Given the description of an element on the screen output the (x, y) to click on. 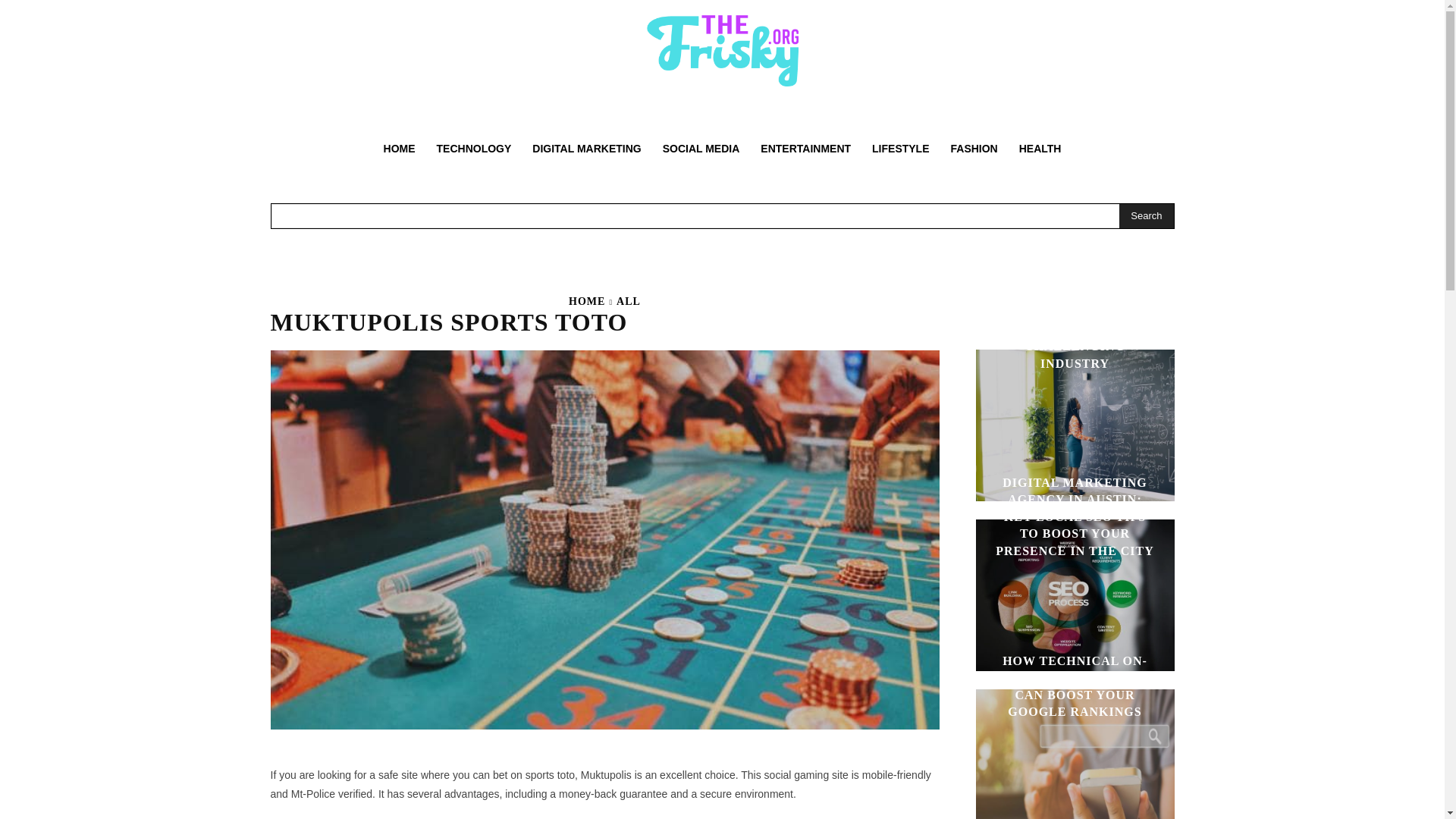
A Growing Need in a Challenging Industry (1074, 425)
TECHNOLOGY (474, 148)
ENTERTAINMENT (805, 148)
View all posts in All (627, 301)
HOME (587, 301)
SOCIAL MEDIA (701, 148)
HOME (399, 148)
A GROWING NEED IN A CHALLENGING INDUSTRY (1074, 346)
ALL (627, 301)
Search (1146, 215)
LIFESTYLE (900, 148)
HEALTH (1040, 148)
DIGITAL MARKETING (585, 148)
FASHION (974, 148)
